Given the description of an element on the screen output the (x, y) to click on. 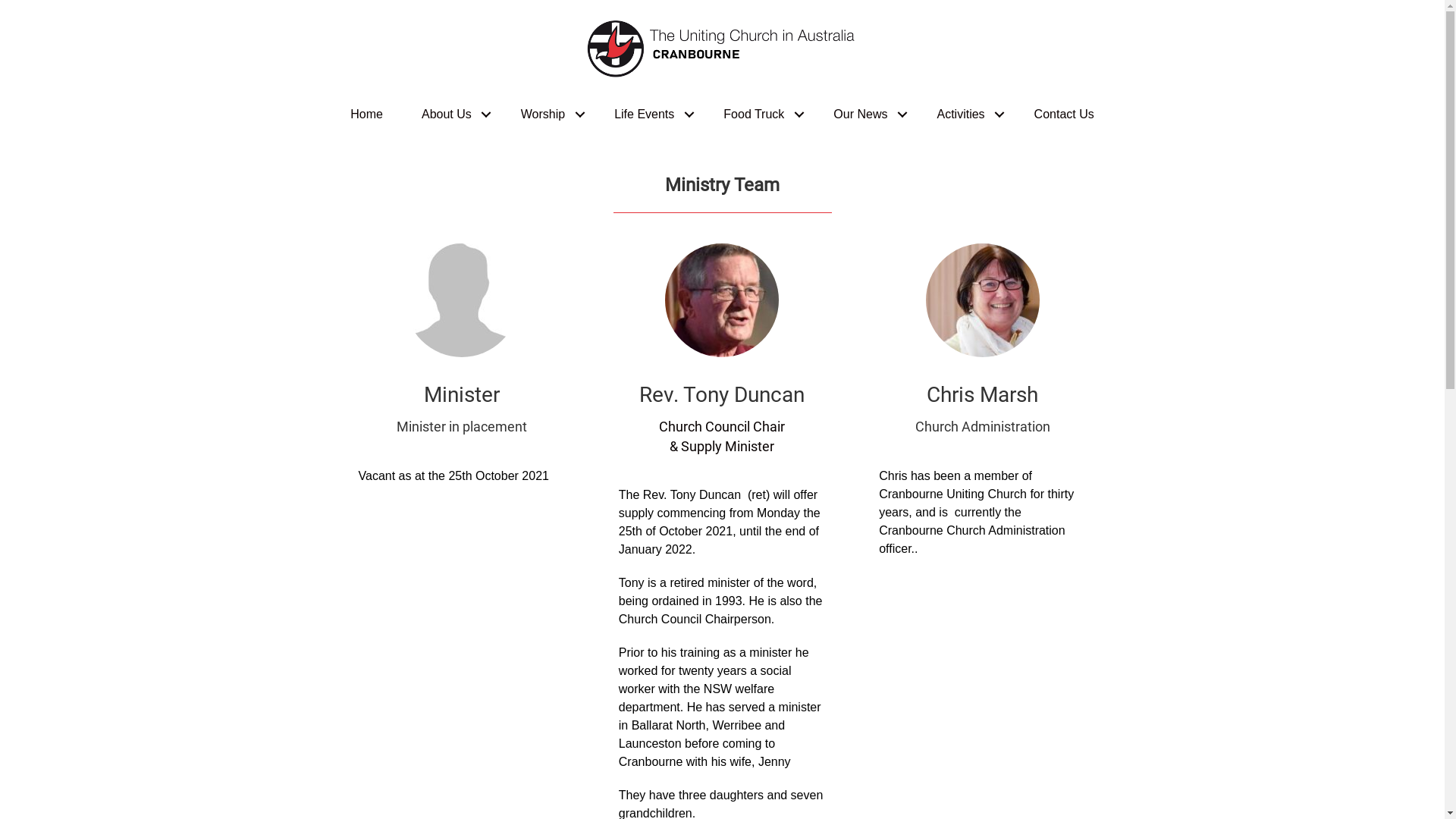
Food Truck Element type: text (758, 114)
About Us Element type: text (451, 114)
Home Element type: text (366, 114)
Our News Element type: text (865, 114)
portrait Element type: hover (982, 300)
51983544_1223291561164132_7596394191261794304_n Element type: hover (721, 300)
Worship Element type: text (548, 114)
Activities Element type: text (965, 114)
Contact Us Element type: text (1064, 114)
UCA-Cranbourne-Logo Element type: hover (721, 48)
Life Events Element type: text (649, 114)
No identity Element type: hover (461, 300)
